Given the description of an element on the screen output the (x, y) to click on. 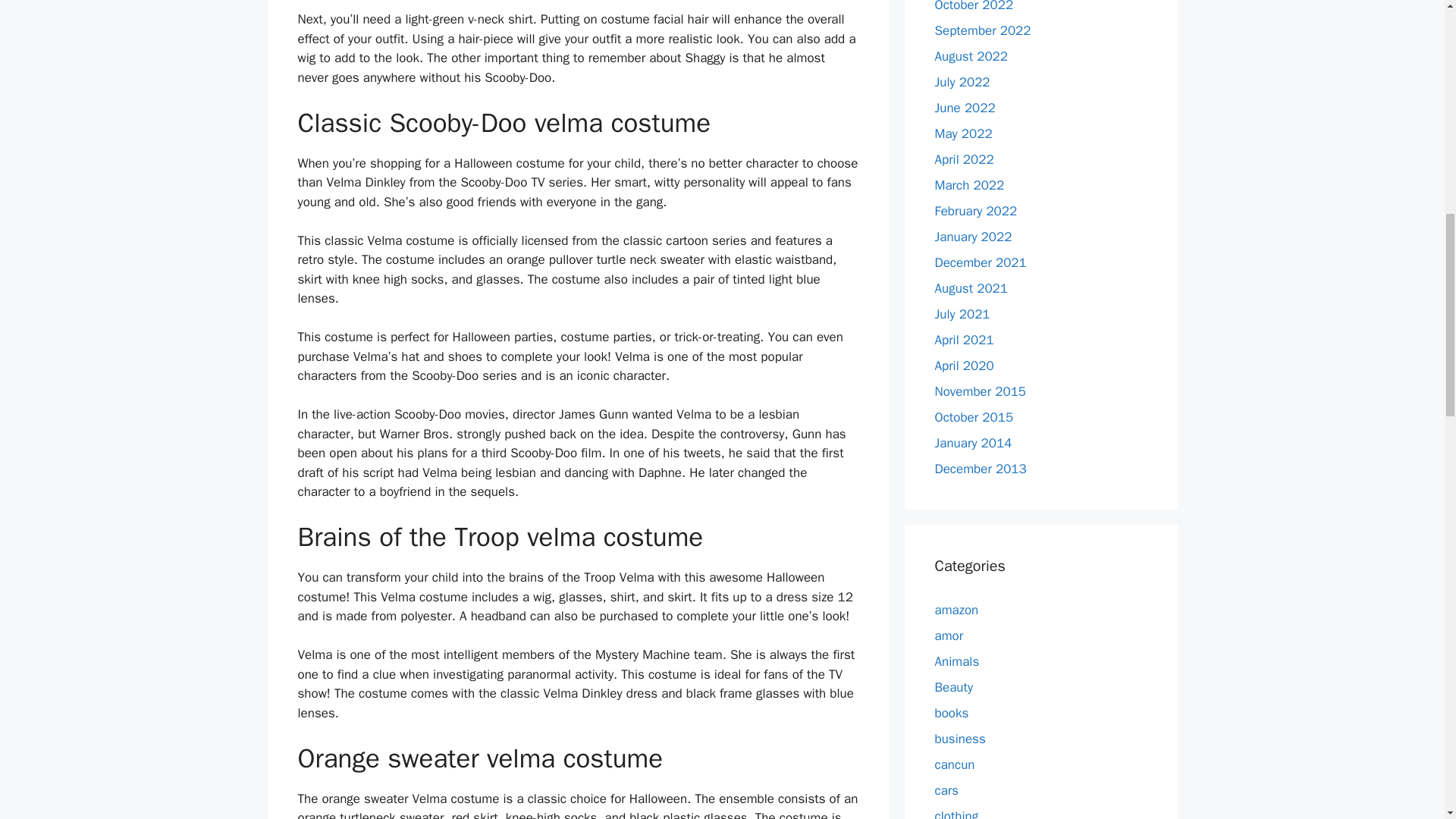
April 2020 (963, 365)
February 2022 (975, 211)
July 2022 (962, 82)
November 2015 (980, 391)
January 2014 (972, 442)
Beauty (953, 687)
January 2022 (972, 236)
December 2021 (980, 262)
Animals (956, 661)
amazon (956, 609)
